Given the description of an element on the screen output the (x, y) to click on. 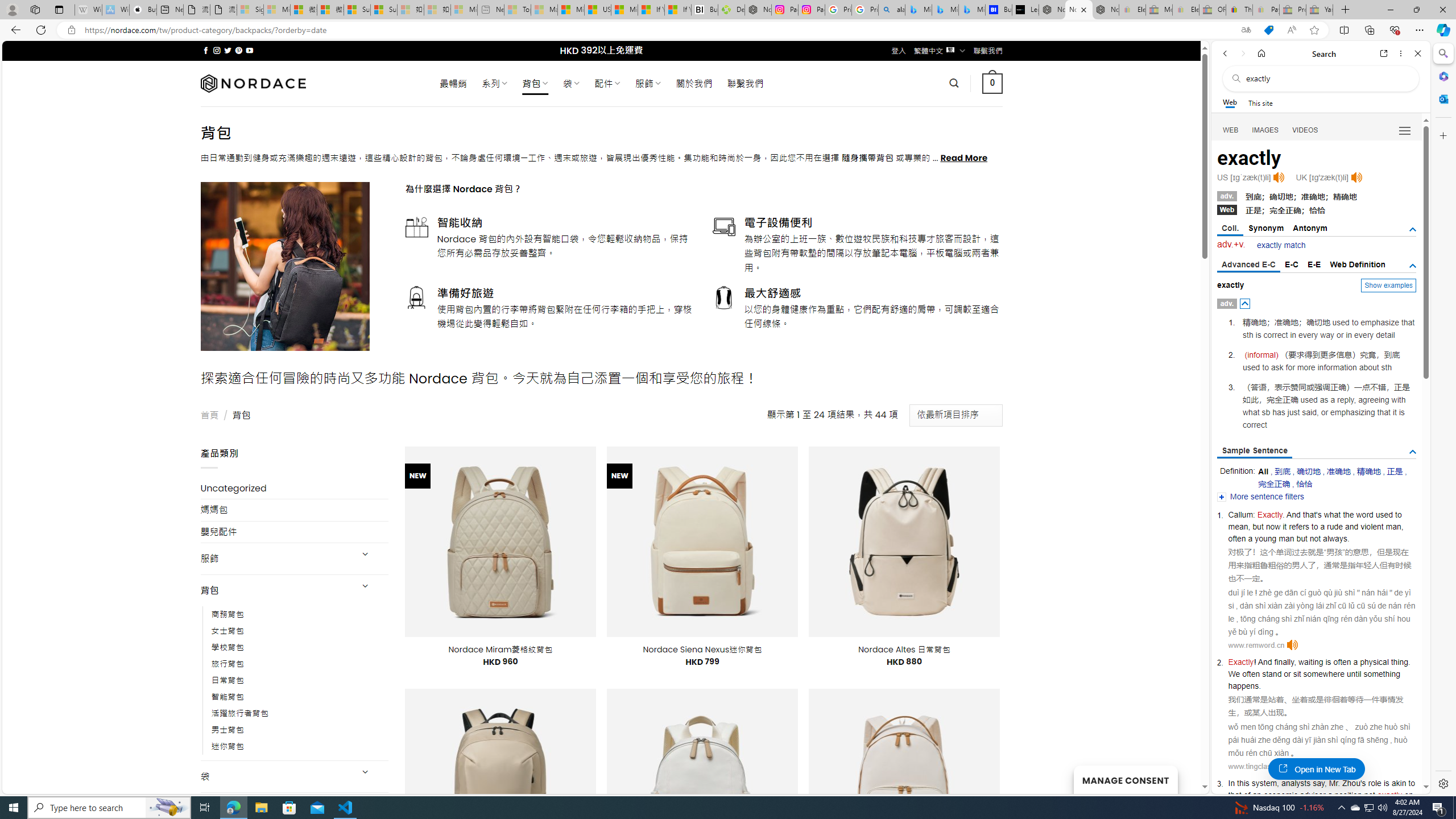
www.tingclass.net (1257, 766)
In (1230, 782)
is (1327, 661)
AutomationID: tgdef_sen (1412, 451)
Uncategorized (294, 488)
